Given the description of an element on the screen output the (x, y) to click on. 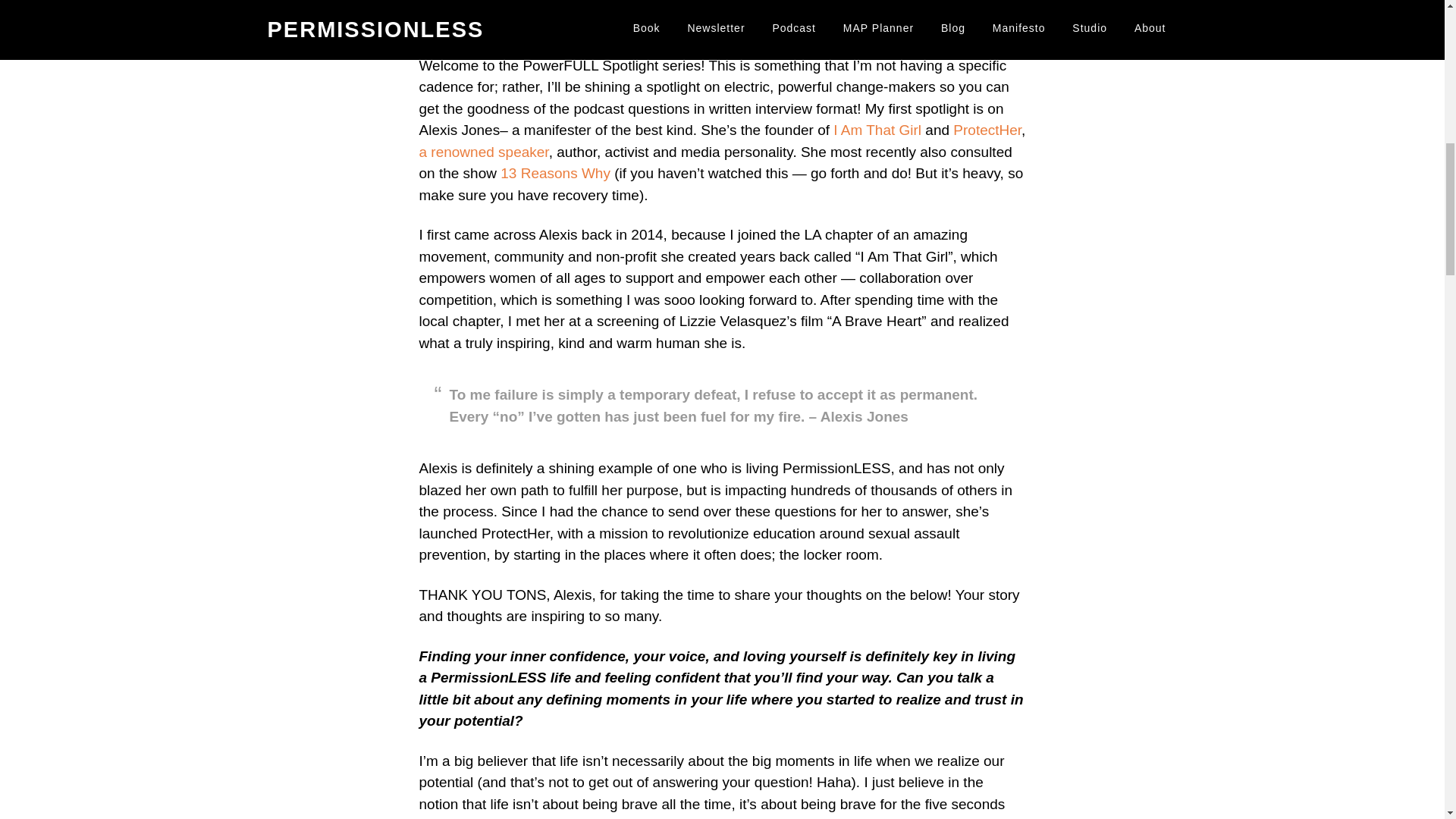
I Am That Girl (876, 130)
a renowned speaker (483, 151)
13 Reasons Why (555, 172)
ProtectHer (987, 130)
